Given the description of an element on the screen output the (x, y) to click on. 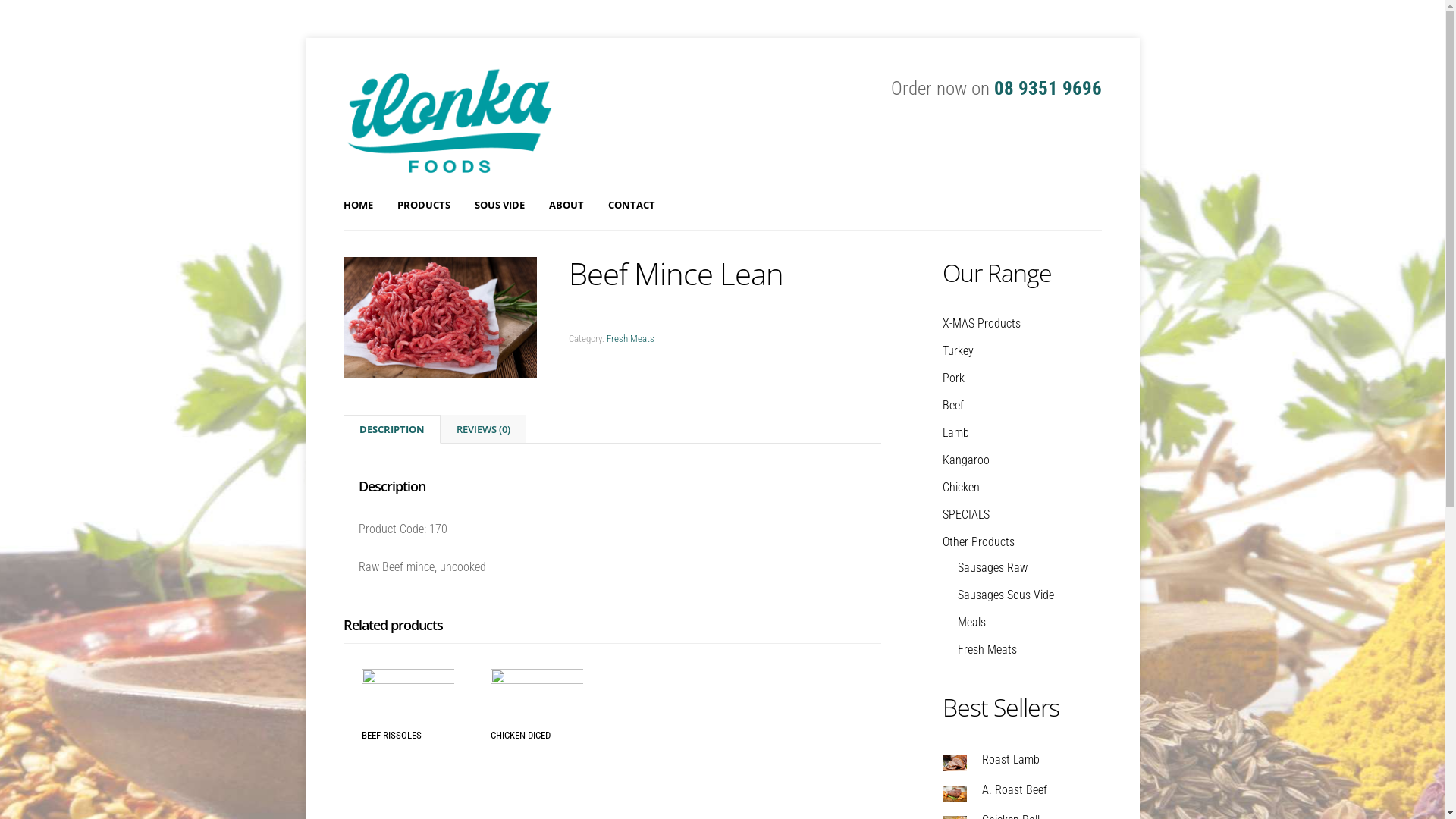
CHICKEN DICED Element type: text (536, 705)
X-MAS Products Element type: text (980, 323)
Kangaroo Element type: text (964, 459)
A. Roast Beef Element type: text (1021, 790)
Fresh Meats Element type: text (630, 338)
Minced Meat Element type: hover (439, 320)
Pork Element type: text (952, 377)
Chicken Element type: text (960, 487)
HOME Element type: text (357, 204)
ABOUT Element type: text (566, 204)
CONTACT Element type: text (631, 204)
REVIEWS (0) Element type: text (483, 429)
SPECIALS Element type: text (964, 514)
Turkey Element type: text (956, 350)
Fresh Meats Element type: text (986, 649)
Minced Meat Element type: hover (439, 317)
SOUS VIDE Element type: text (499, 204)
BEEF RISSOLES Element type: text (406, 705)
Sausages Sous Vide Element type: text (1005, 594)
PRODUCTS Element type: text (423, 204)
Lamb Element type: text (954, 432)
Beef Element type: text (952, 405)
DESCRIPTION Element type: text (391, 429)
Sausages Raw Element type: text (991, 567)
Other Products Element type: text (977, 541)
Roast Lamb Element type: text (1021, 759)
Meals Element type: text (971, 622)
